Given the description of an element on the screen output the (x, y) to click on. 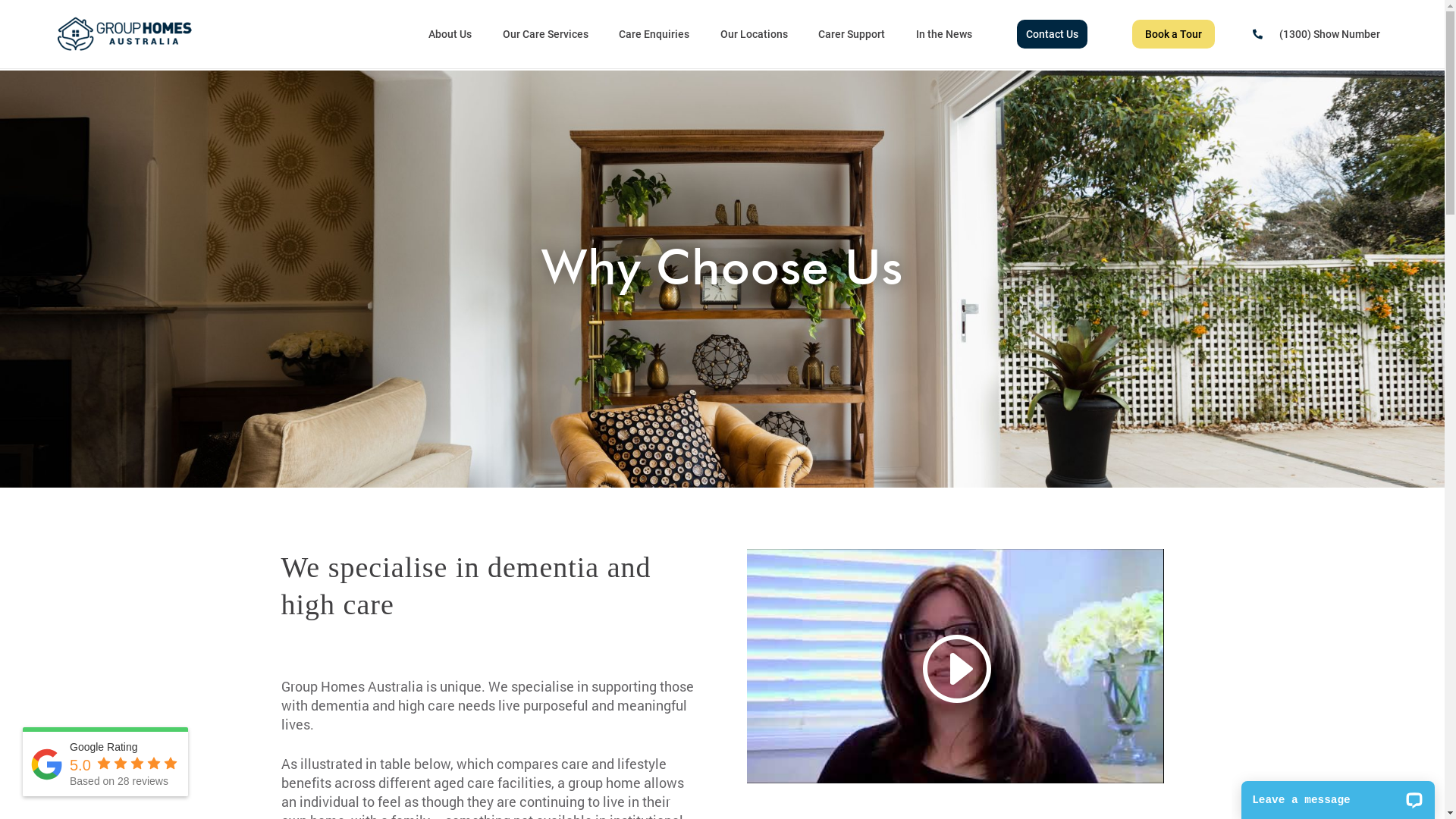
Our Care Services Element type: text (545, 34)
Care Enquiries Element type: text (653, 34)
Our Locations Element type: text (753, 34)
Book a Tour Element type: text (1173, 33)
(1300) Show Number Element type: text (1329, 34)
Contact Us Element type: text (1051, 33)
In the News Element type: text (944, 34)
Carer Support Element type: text (851, 34)
About Us Element type: text (449, 34)
